Given the description of an element on the screen output the (x, y) to click on. 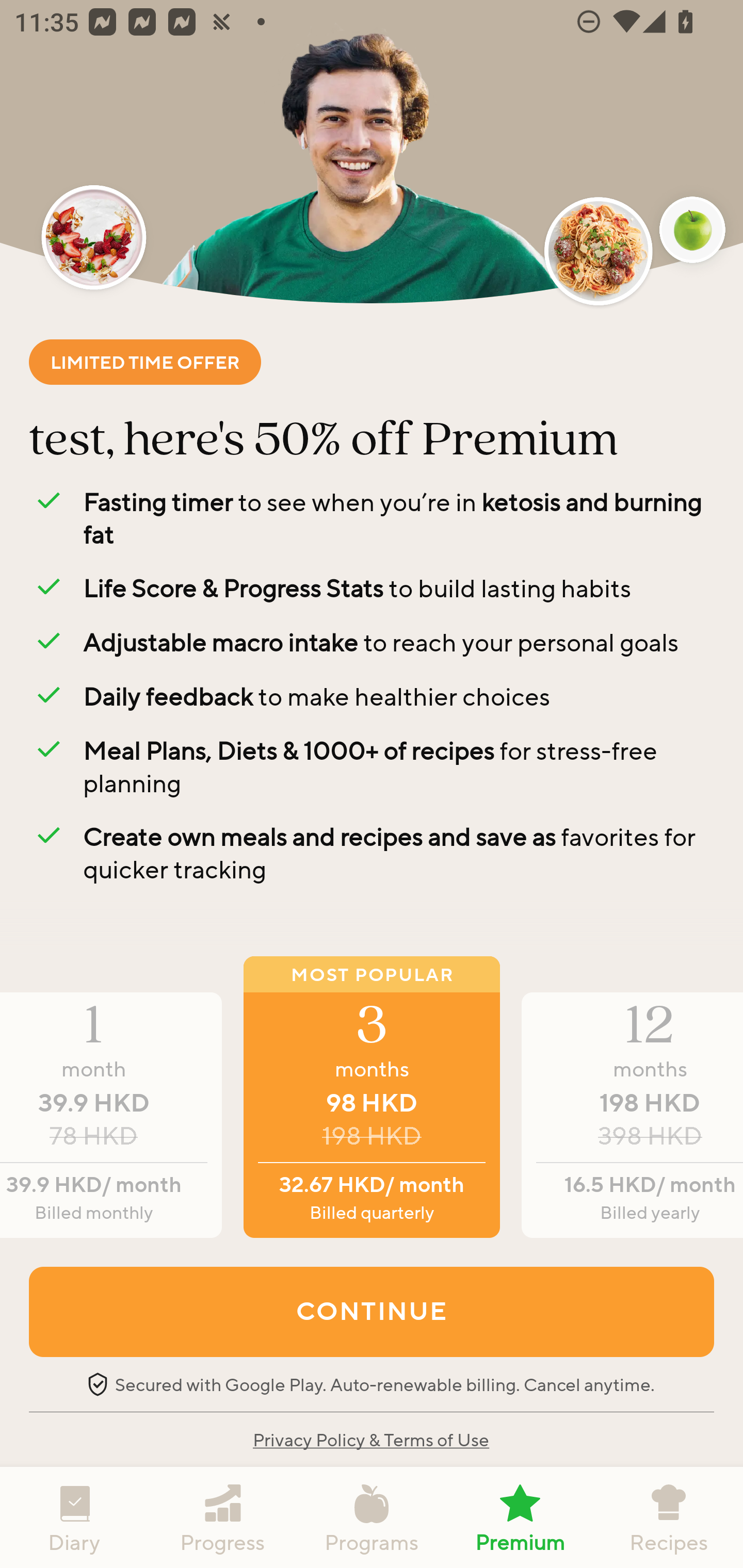
CONTINUE (371, 1311)
Privacy Policy & Terms of Use (370, 1438)
Diary (74, 1517)
Progress (222, 1517)
Programs (371, 1517)
Recipes (668, 1517)
